Given the description of an element on the screen output the (x, y) to click on. 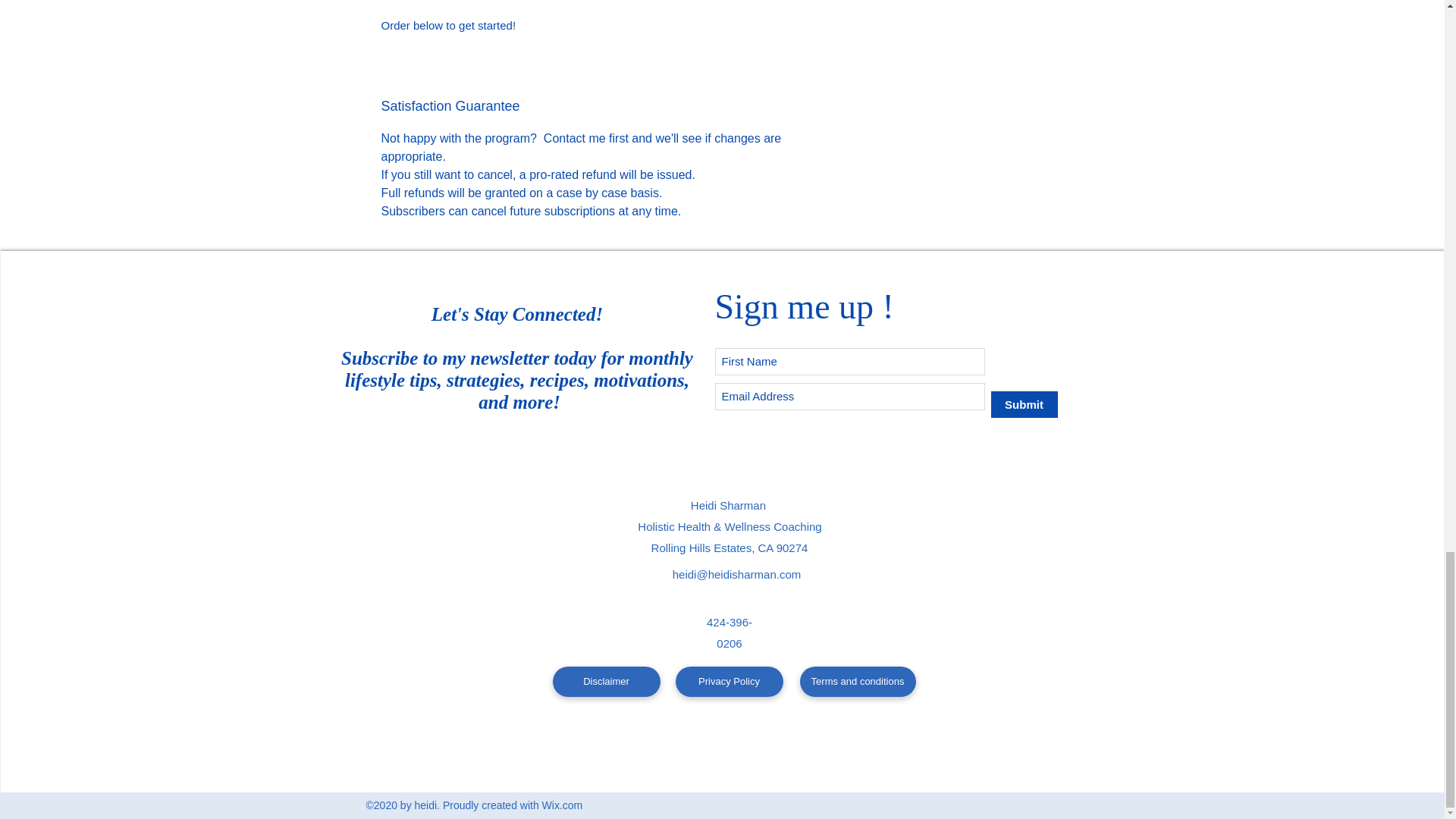
Privacy Policy (729, 681)
Submit (1023, 404)
Terms and conditions (857, 681)
Disclaimer (605, 681)
